Given the description of an element on the screen output the (x, y) to click on. 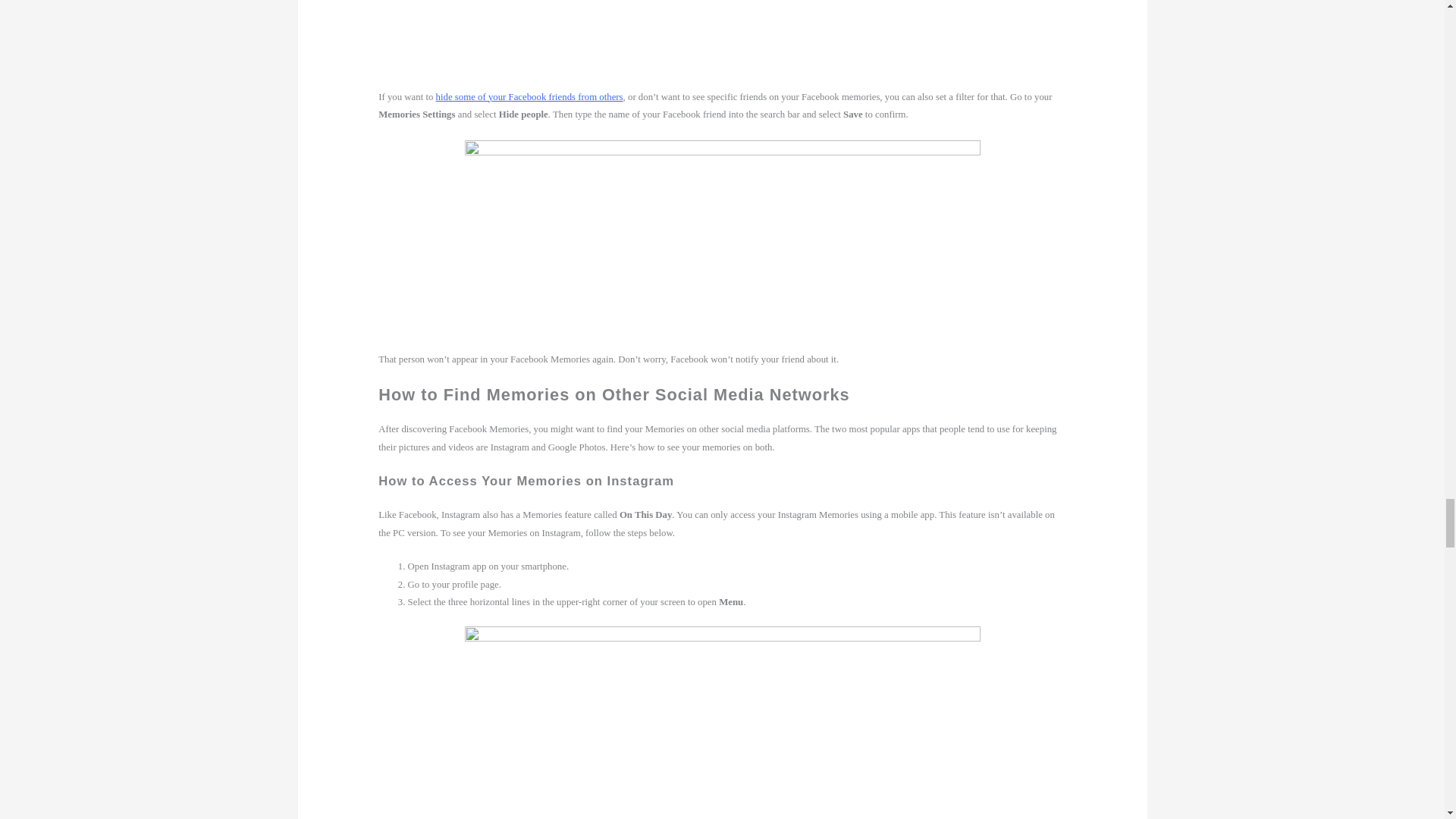
hide some of your Facebook friends from others (529, 96)
